Given the description of an element on the screen output the (x, y) to click on. 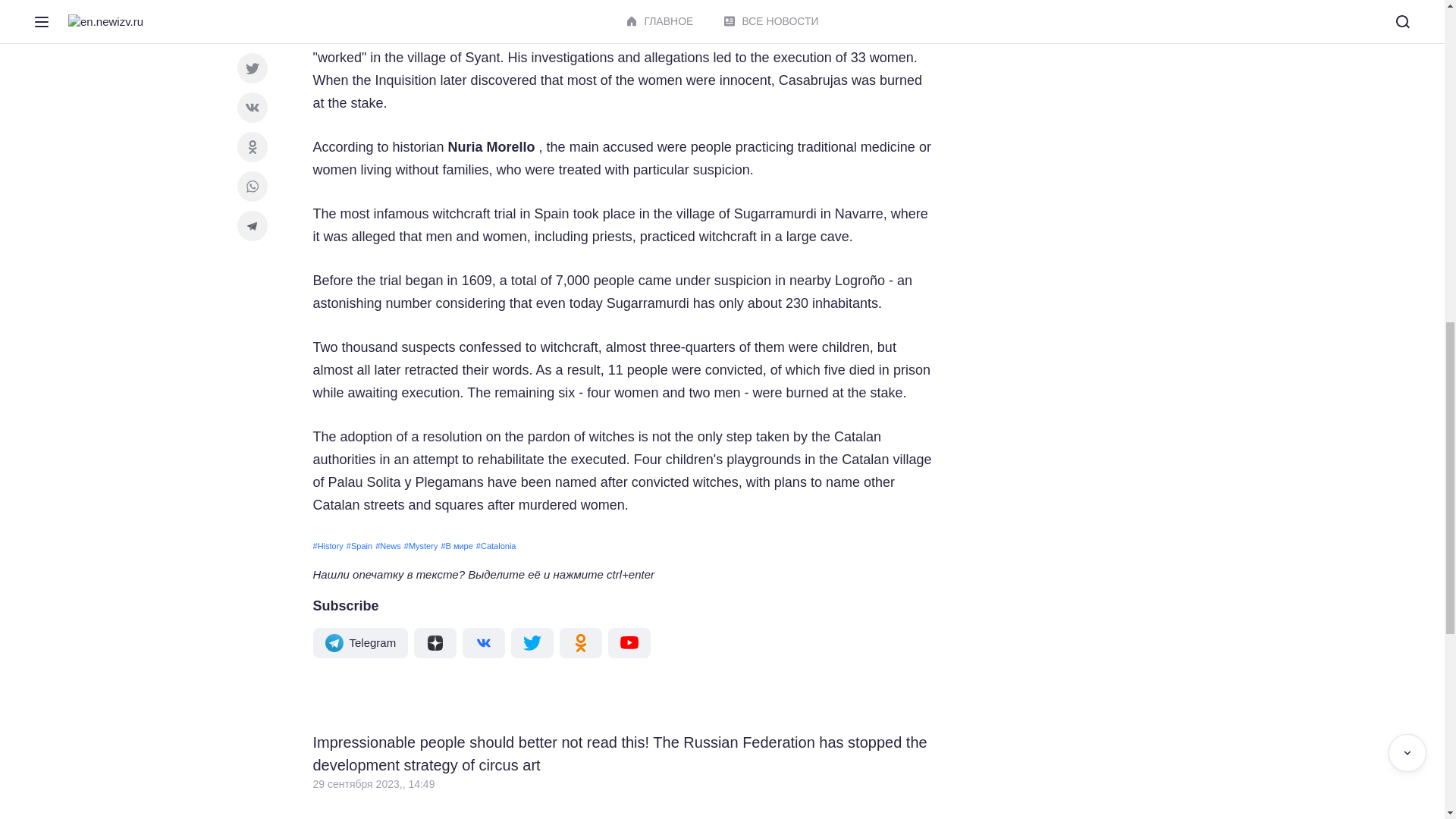
Telegram (360, 643)
